Given the description of an element on the screen output the (x, y) to click on. 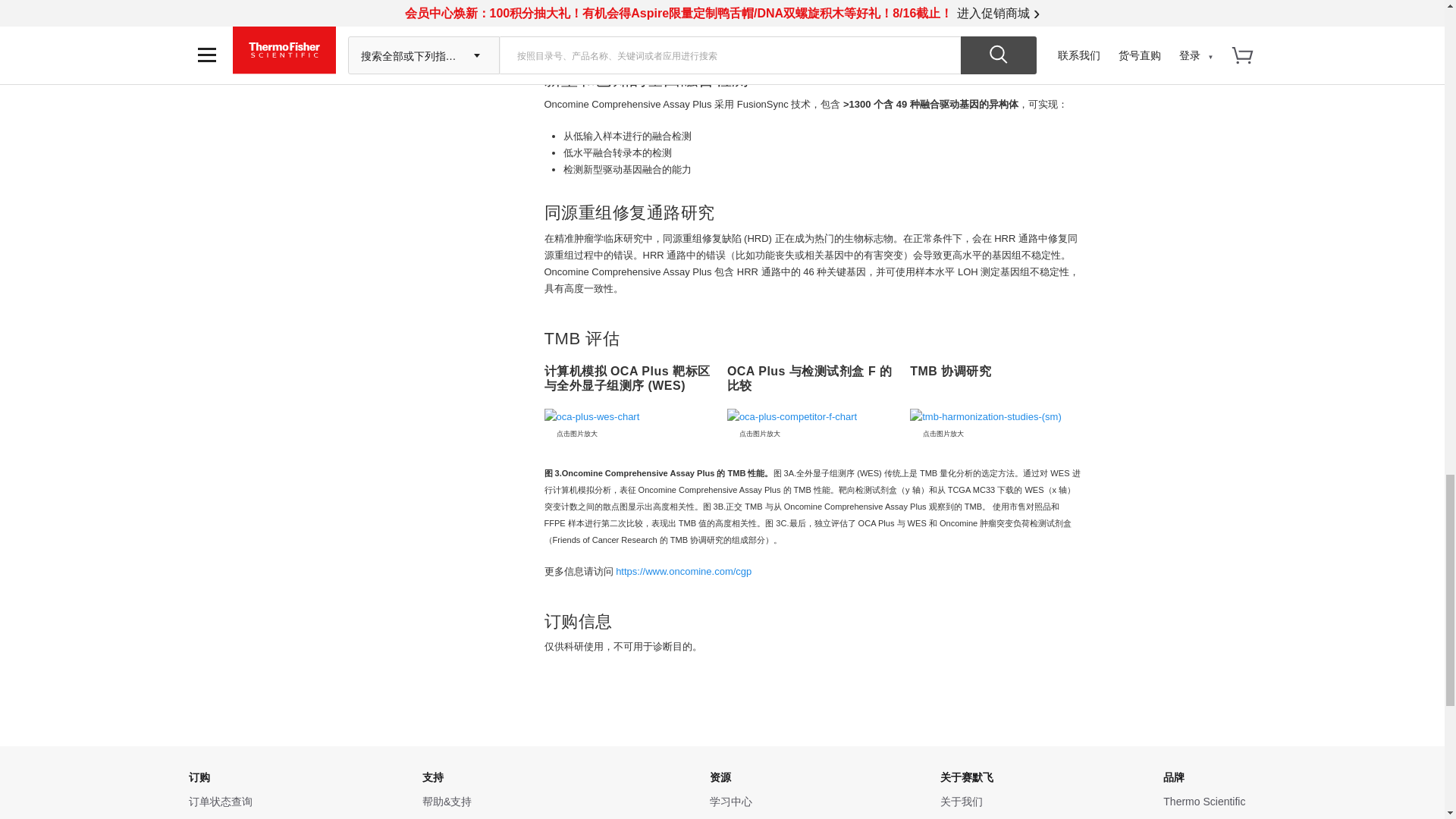
oca-plus-wes-chart (630, 416)
oca-plus-competitor-f-chart (812, 416)
